Given the description of an element on the screen output the (x, y) to click on. 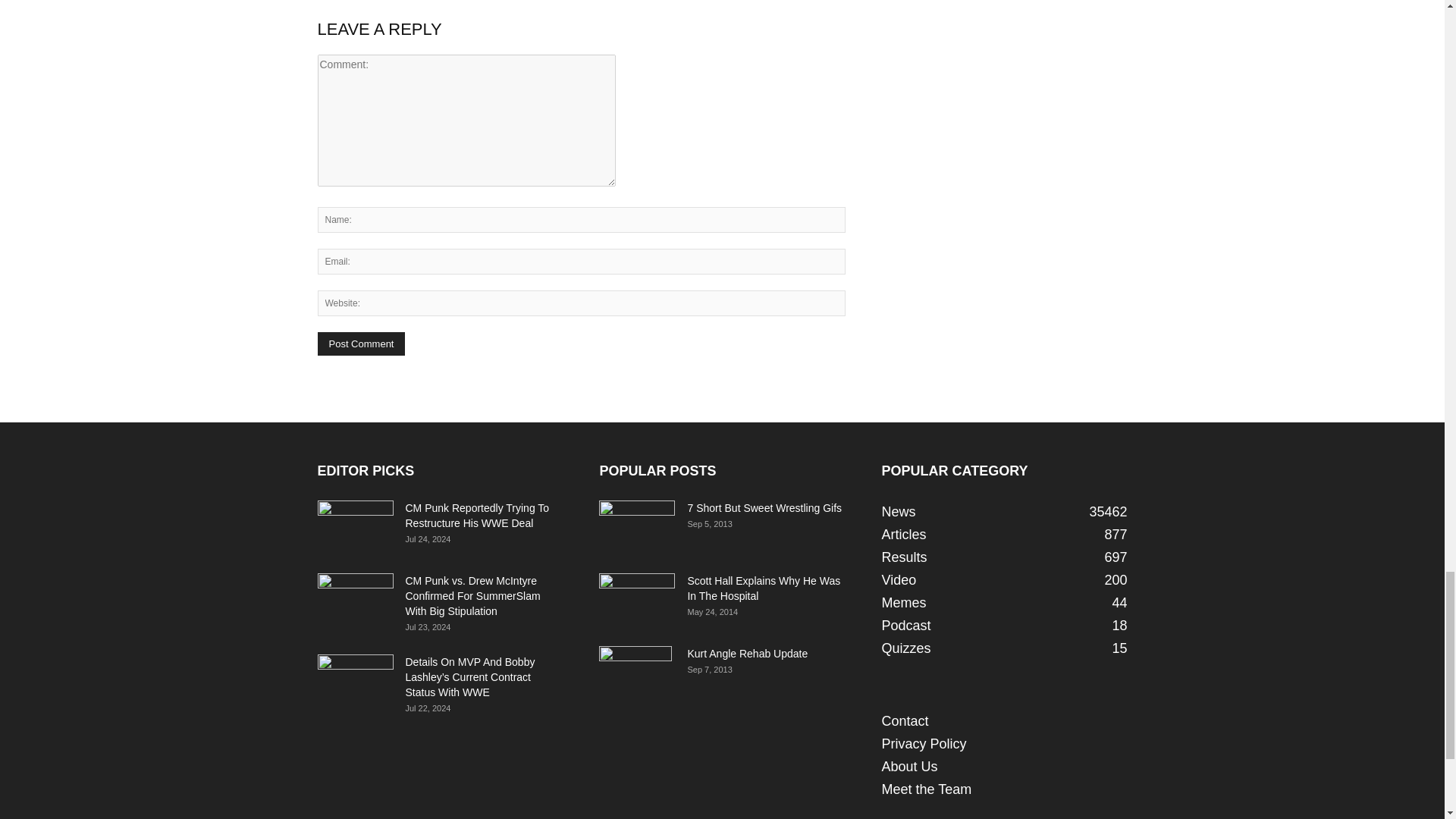
Post Comment (360, 343)
